Given the description of an element on the screen output the (x, y) to click on. 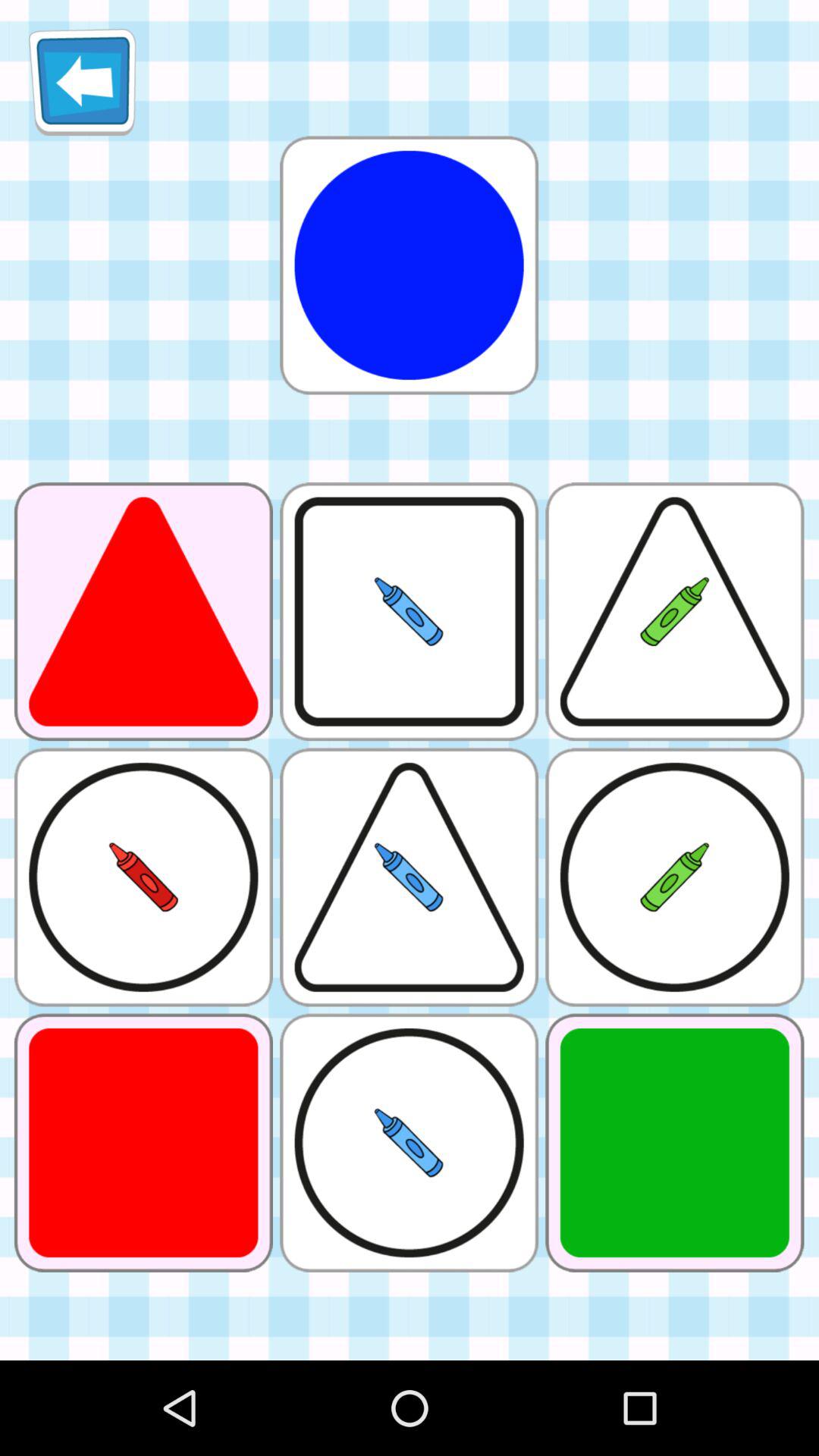
select blue circle (409, 265)
